Given the description of an element on the screen output the (x, y) to click on. 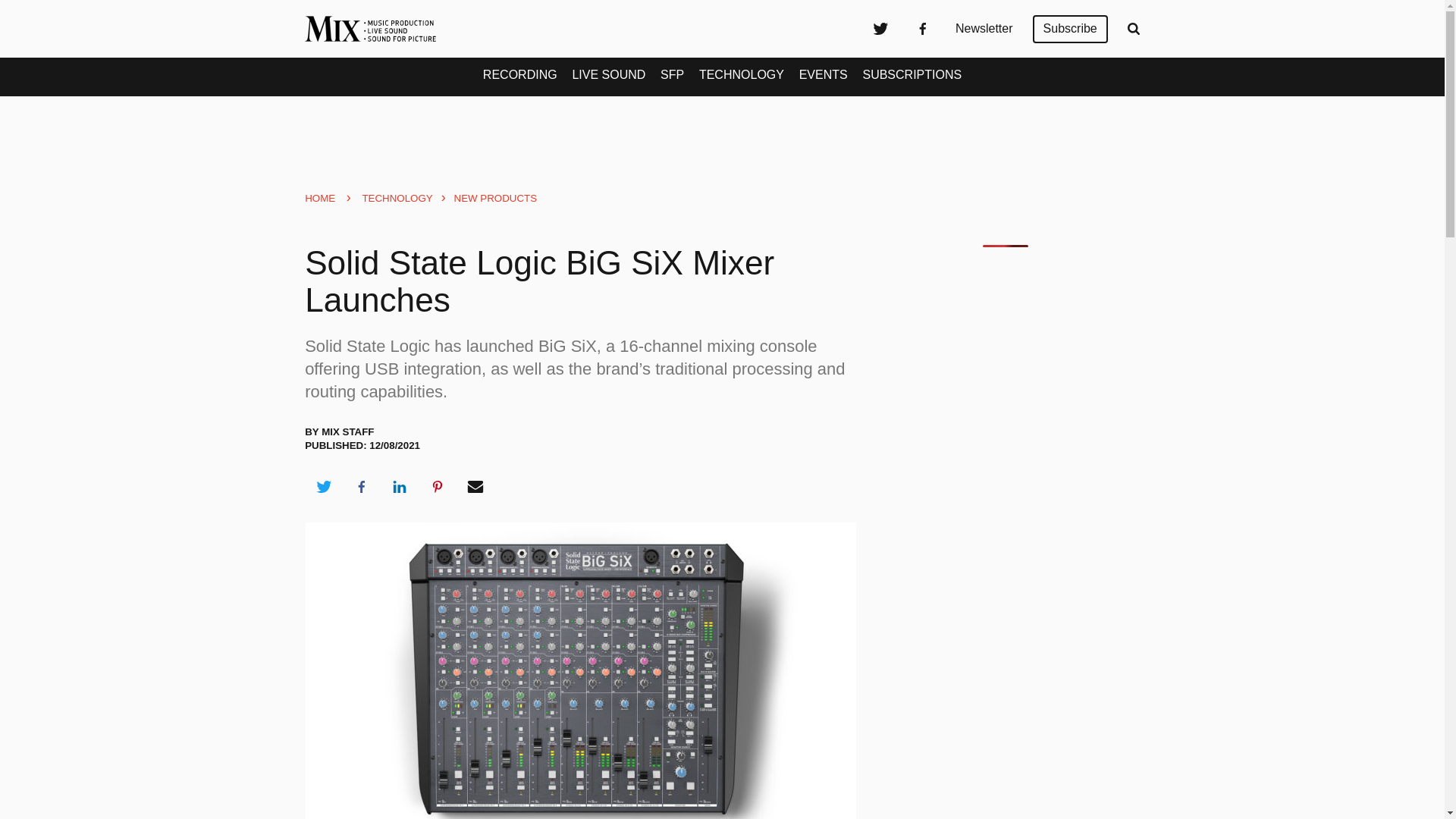
Share on LinkedIn (399, 486)
Share via Email (476, 486)
Share on Pinterest (438, 486)
Share on Twitter (323, 486)
Share on Facebook (361, 486)
